Given the description of an element on the screen output the (x, y) to click on. 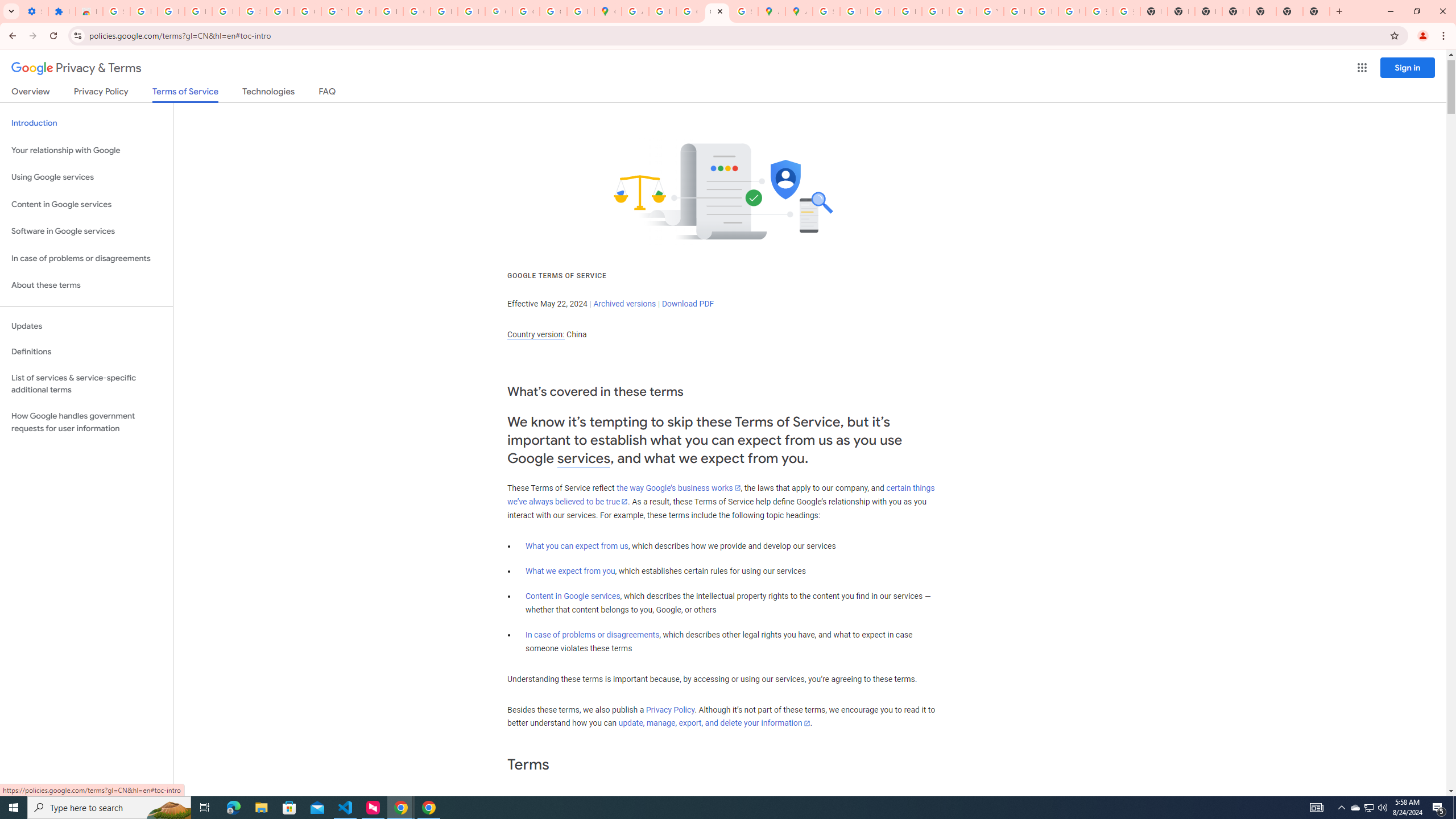
Updates (86, 325)
Back (10, 35)
Safety in Our Products - Google Safety Center (743, 11)
Introduction (86, 122)
Privacy Help Center - Policies Help (908, 11)
Extensions (61, 11)
Settings - On startup (34, 11)
Forward (32, 35)
Download PDF (687, 303)
Close (719, 11)
